Given the description of an element on the screen output the (x, y) to click on. 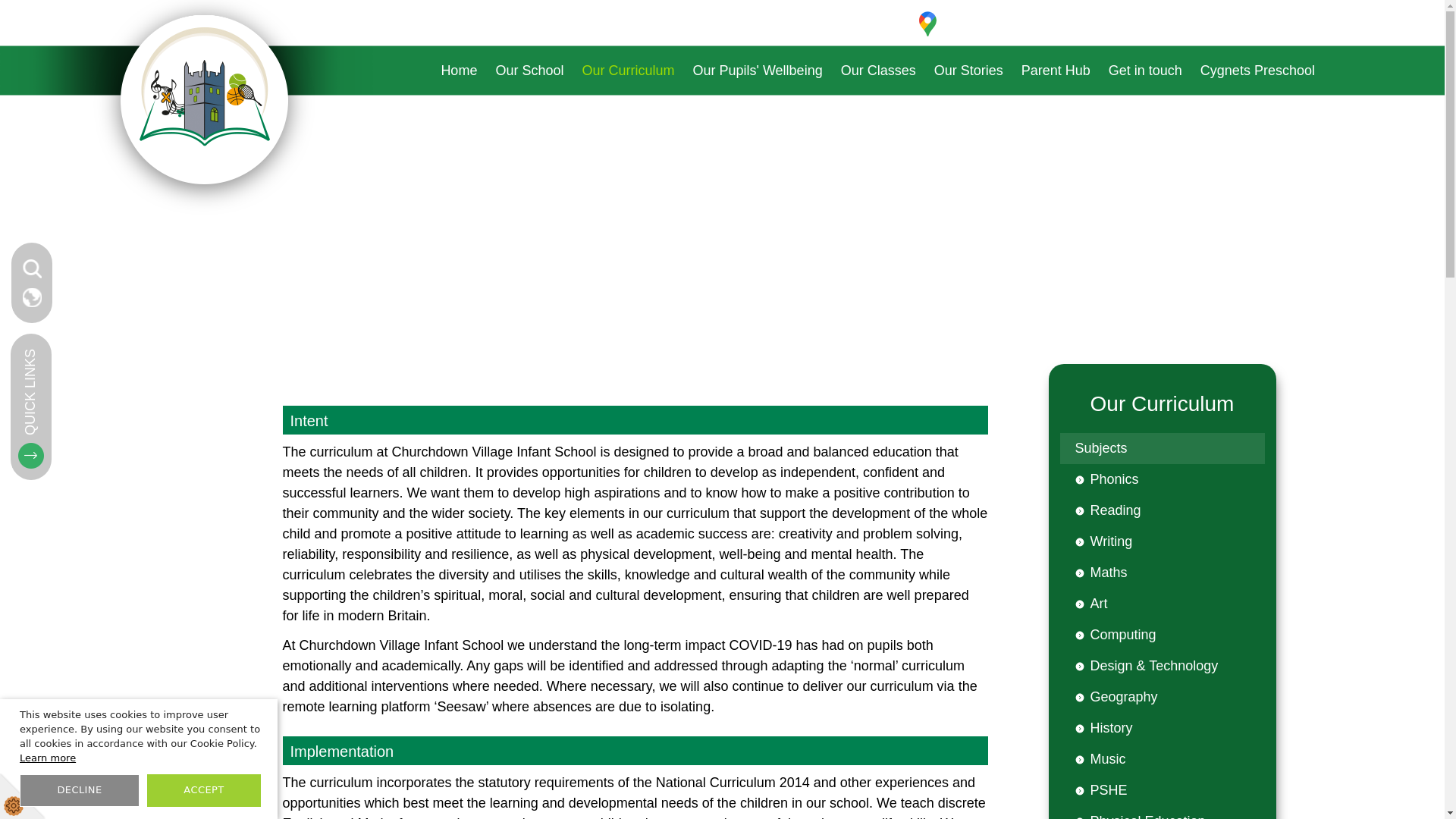
Our School (528, 70)
Translate (32, 297)
Our Curriculum (627, 70)
Home (335, 99)
SEE ON MAP (458, 70)
Search (959, 23)
